Given the description of an element on the screen output the (x, y) to click on. 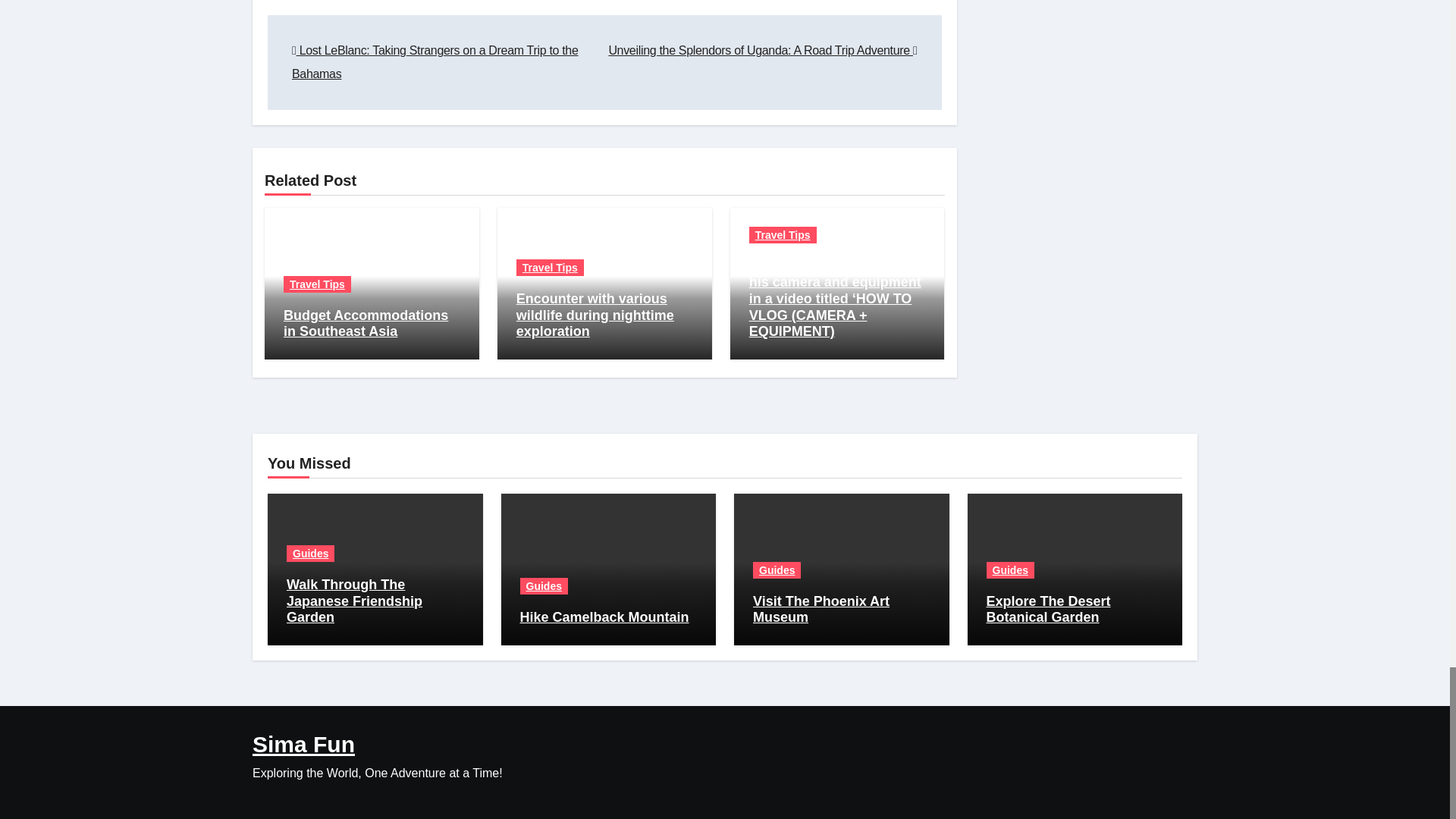
Permalink to: Budget Accommodations in Southeast Asia (365, 323)
Unveiling the Splendors of Uganda: A Road Trip Adventure (762, 50)
